Given the description of an element on the screen output the (x, y) to click on. 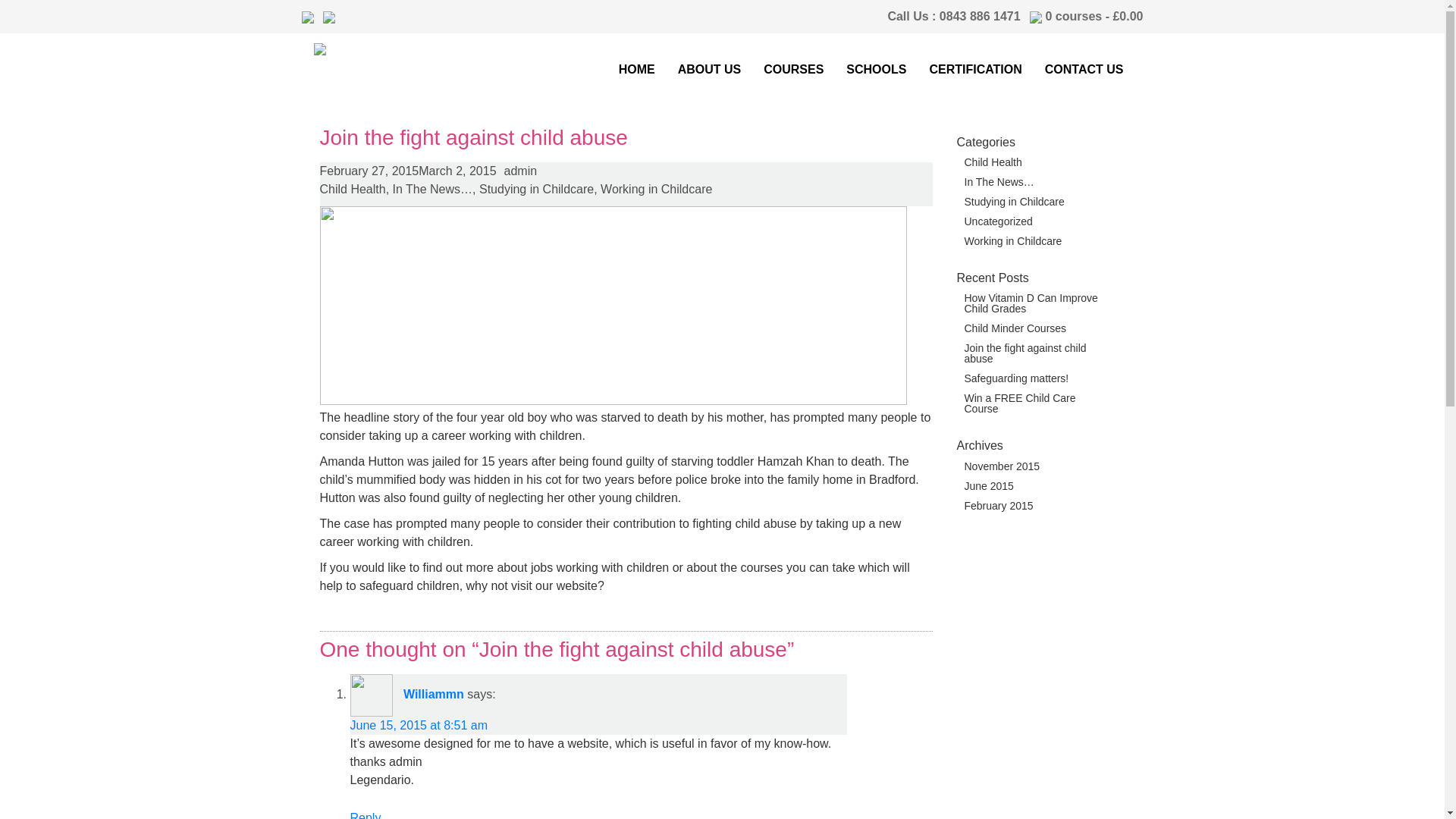
November 2015 (1036, 466)
June 2015 (1036, 485)
Studying in Childcare (1036, 201)
ABOUT US (709, 69)
HOME (636, 69)
Williammn (433, 694)
Working in Childcare (1036, 240)
Working in Childcare (655, 188)
View your shopping cart (1093, 15)
admin (516, 170)
Uncategorized (1036, 221)
COURSES (793, 69)
Child Health (1036, 162)
SCHOOLS (876, 69)
Call Us : 0843 886 1471 (953, 15)
